Given the description of an element on the screen output the (x, y) to click on. 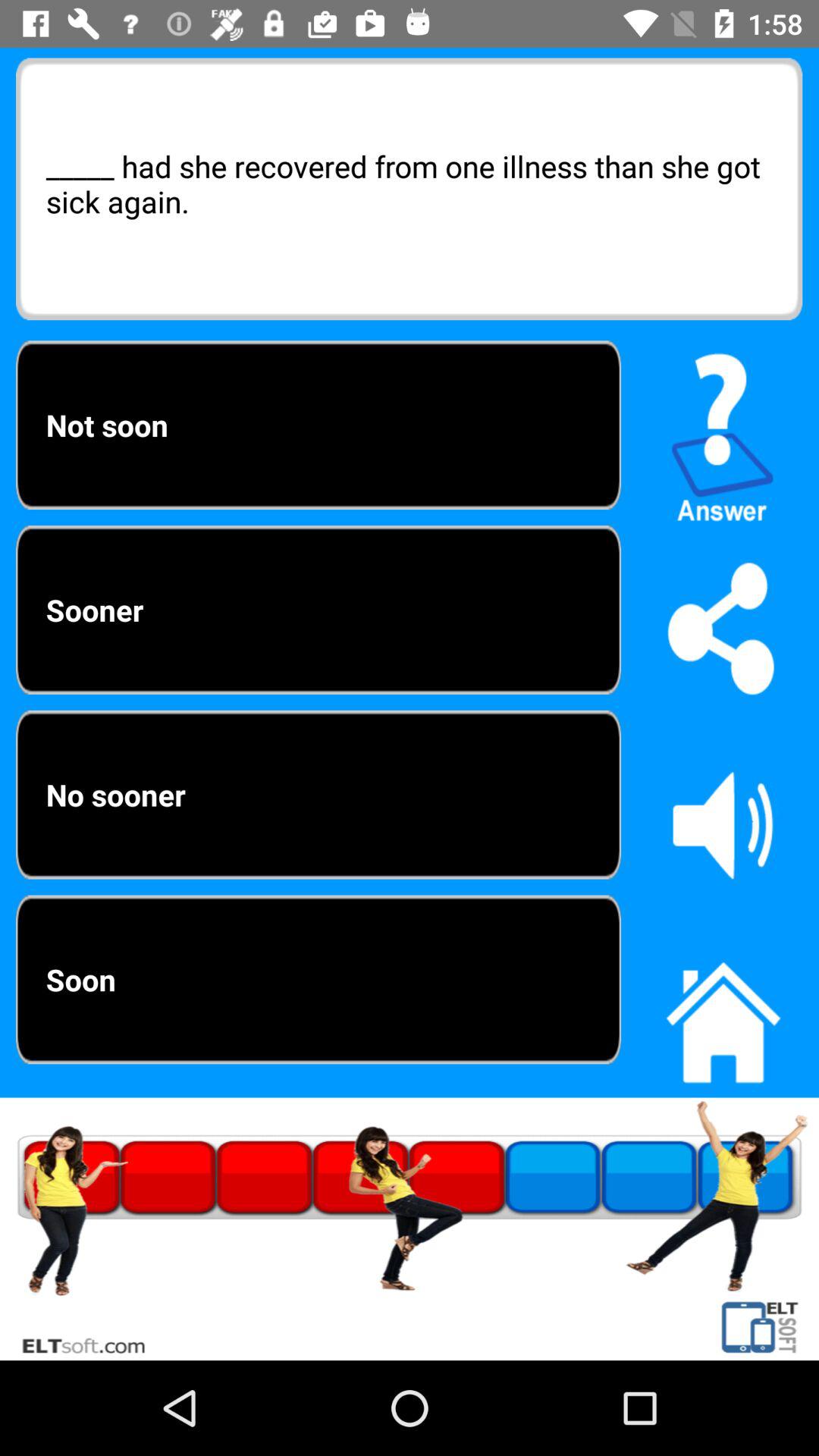
share button (723, 627)
